Given the description of an element on the screen output the (x, y) to click on. 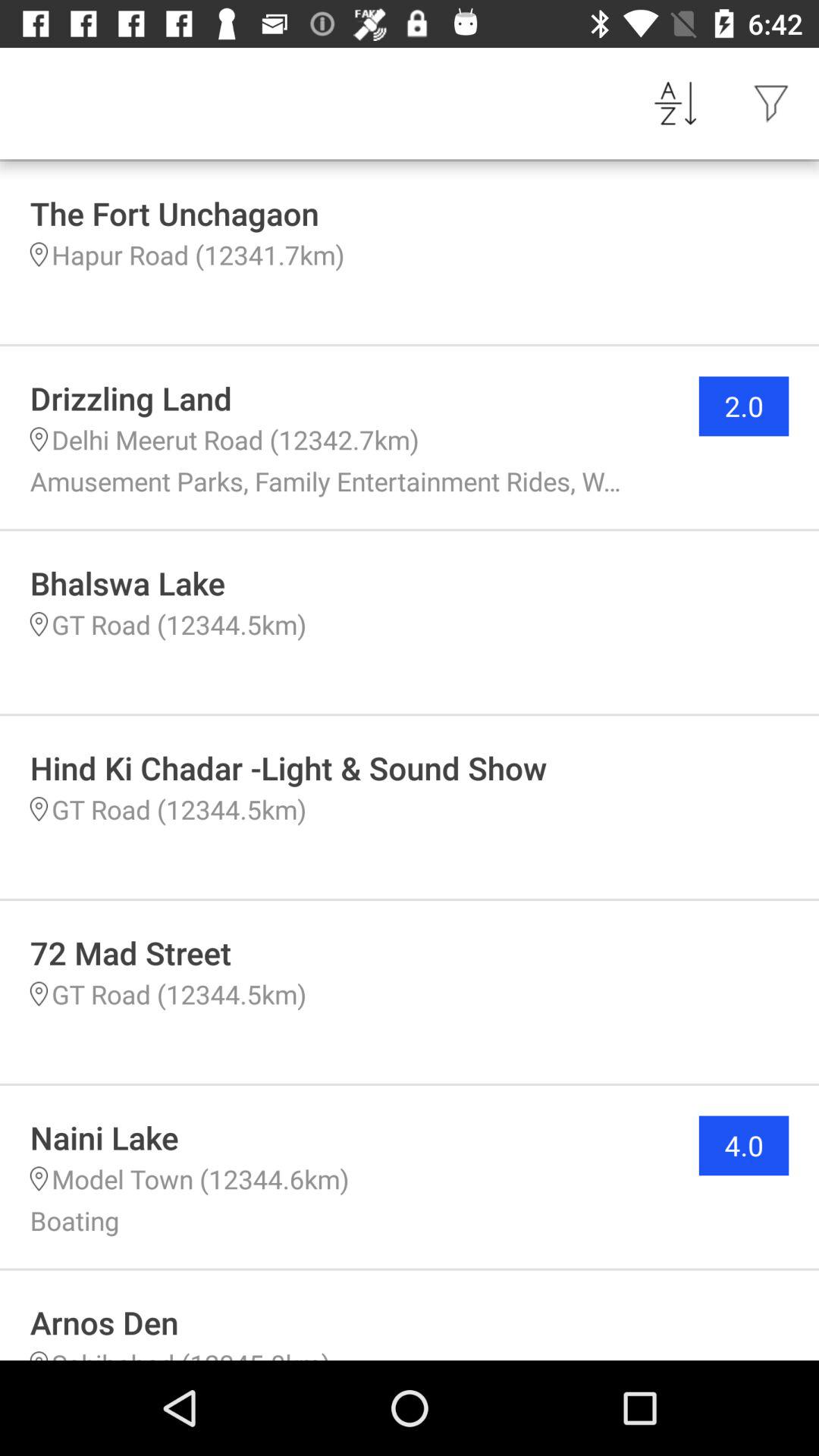
click on the navigation icon below 72 mad street (38, 993)
select the icon which is left side of the hapur road 123417km (38, 254)
click the button on left to the top right corner button on the web page (675, 103)
